Given the description of an element on the screen output the (x, y) to click on. 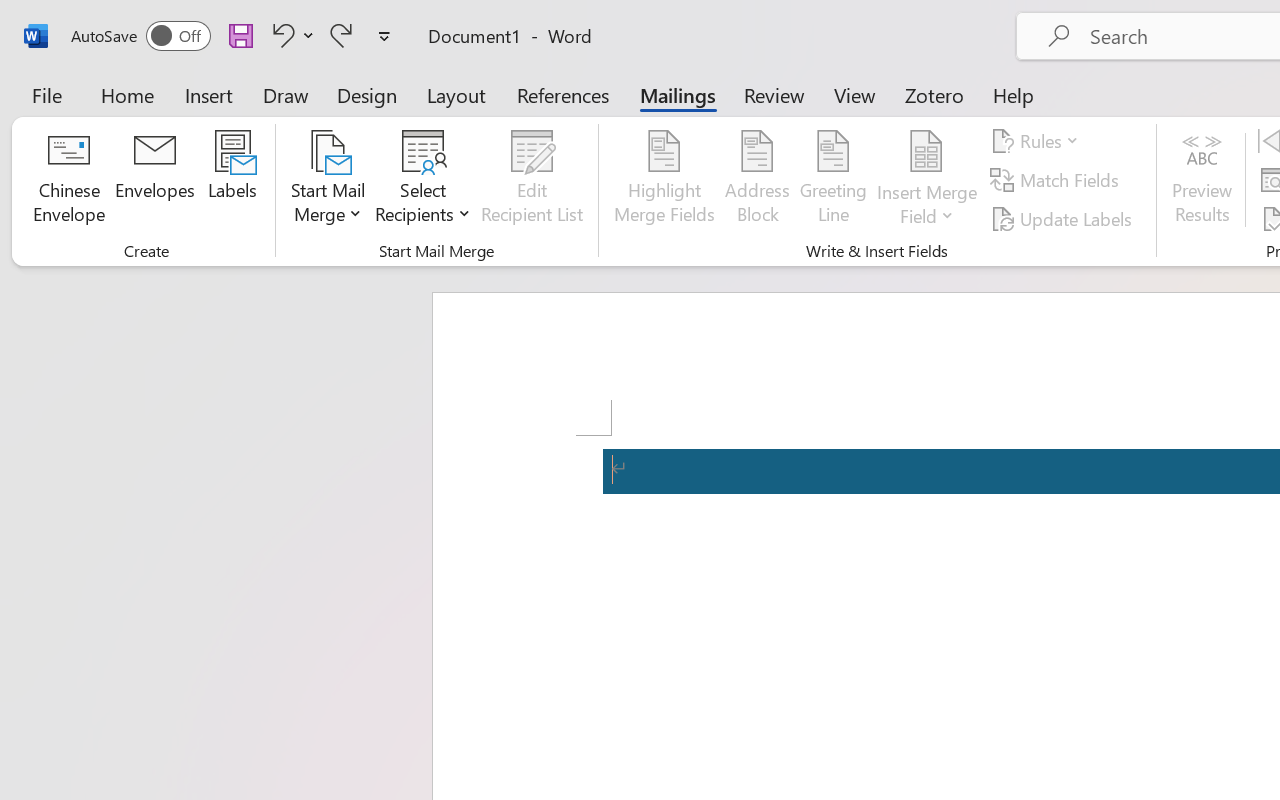
Redo Apply Quick Style (341, 35)
Chinese Envelope... (68, 179)
Rules (1037, 141)
Update Labels (1064, 218)
